Given the description of an element on the screen output the (x, y) to click on. 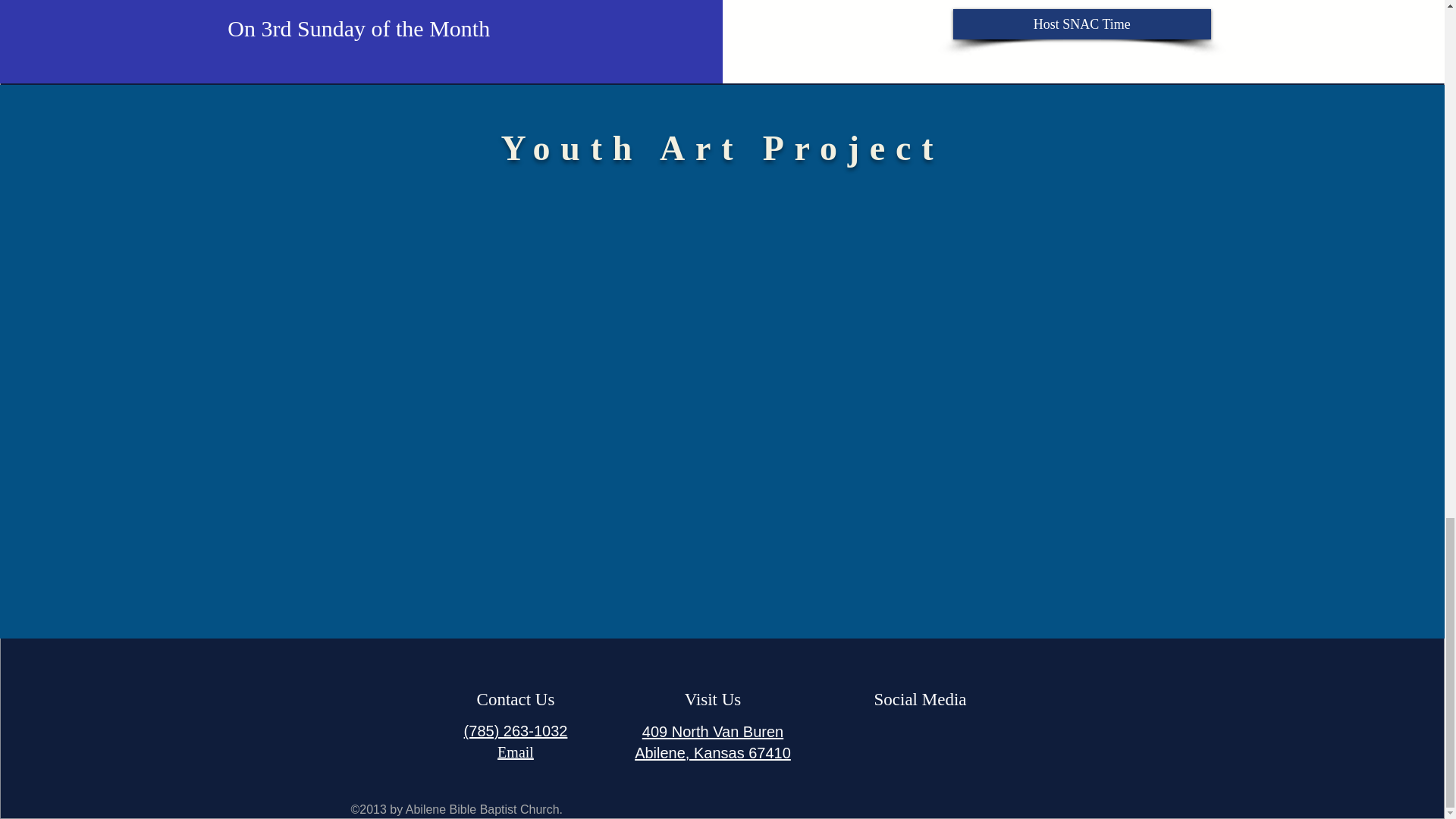
Host SNAC Time (1082, 24)
Email (515, 751)
